Given the description of an element on the screen output the (x, y) to click on. 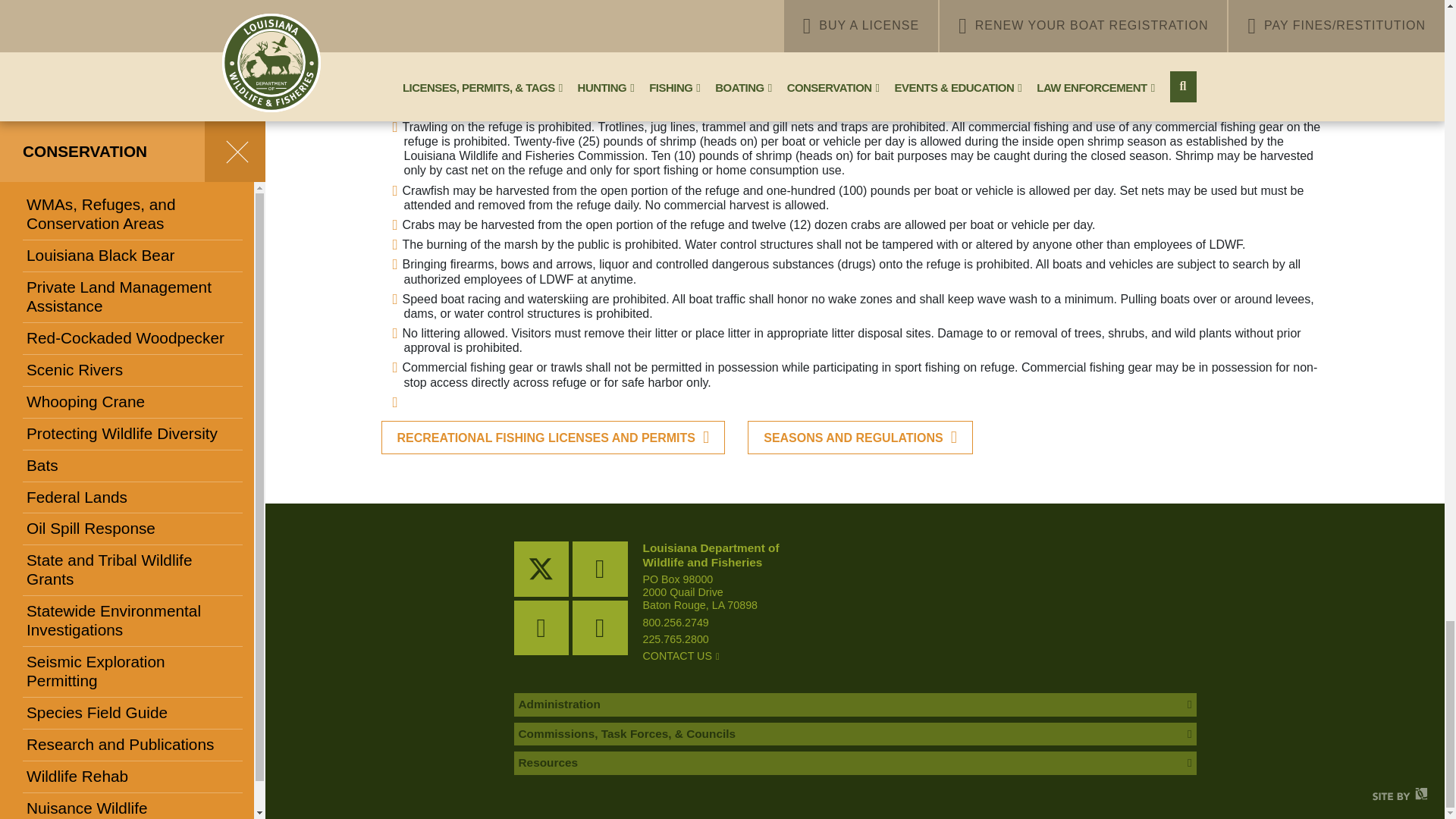
Recreational Fishing Licenses and Permits (552, 437)
Seasons and Regulations (860, 437)
